Given the description of an element on the screen output the (x, y) to click on. 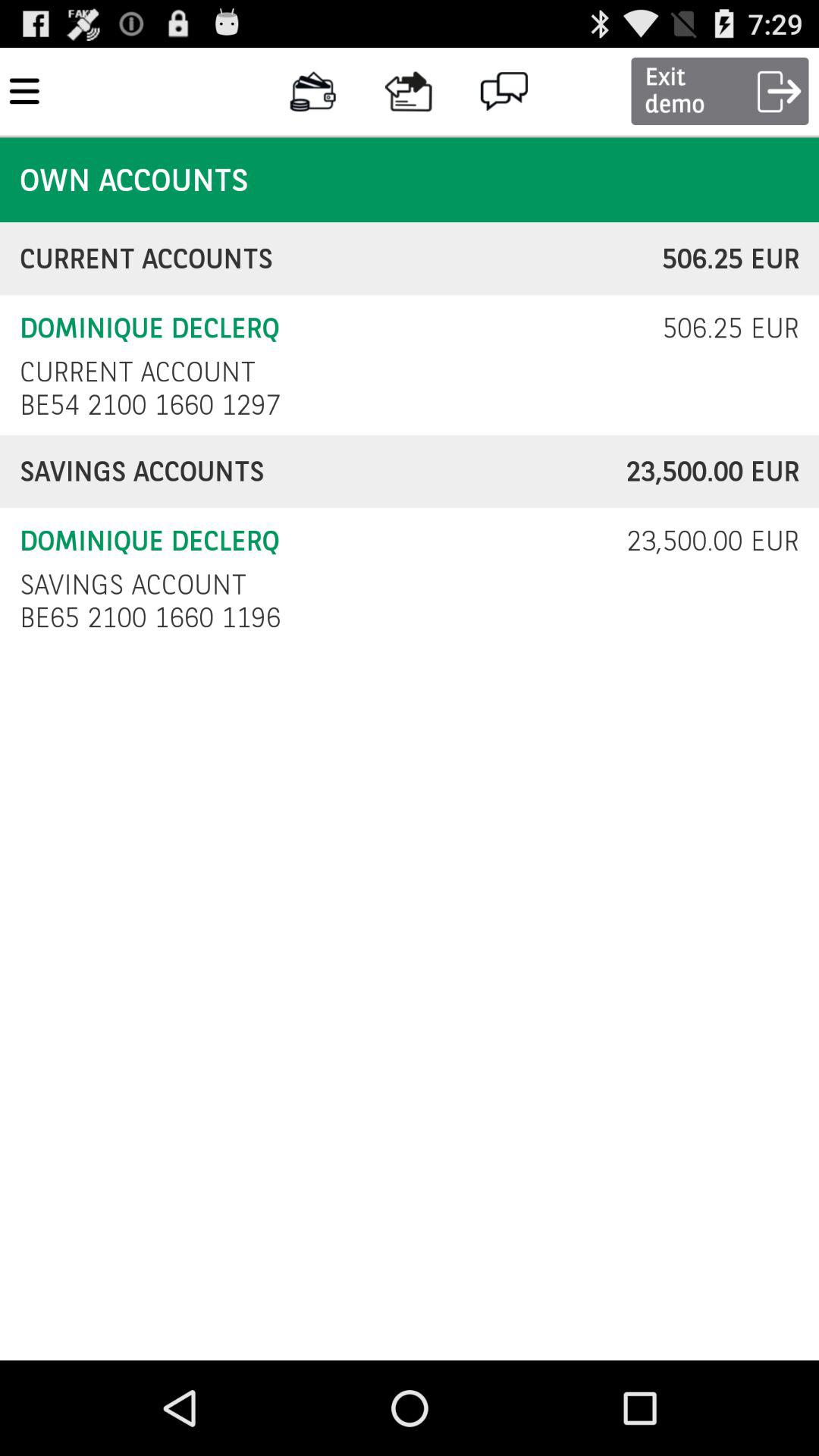
press icon to the left of the 506.25 eur item (340, 258)
